Given the description of an element on the screen output the (x, y) to click on. 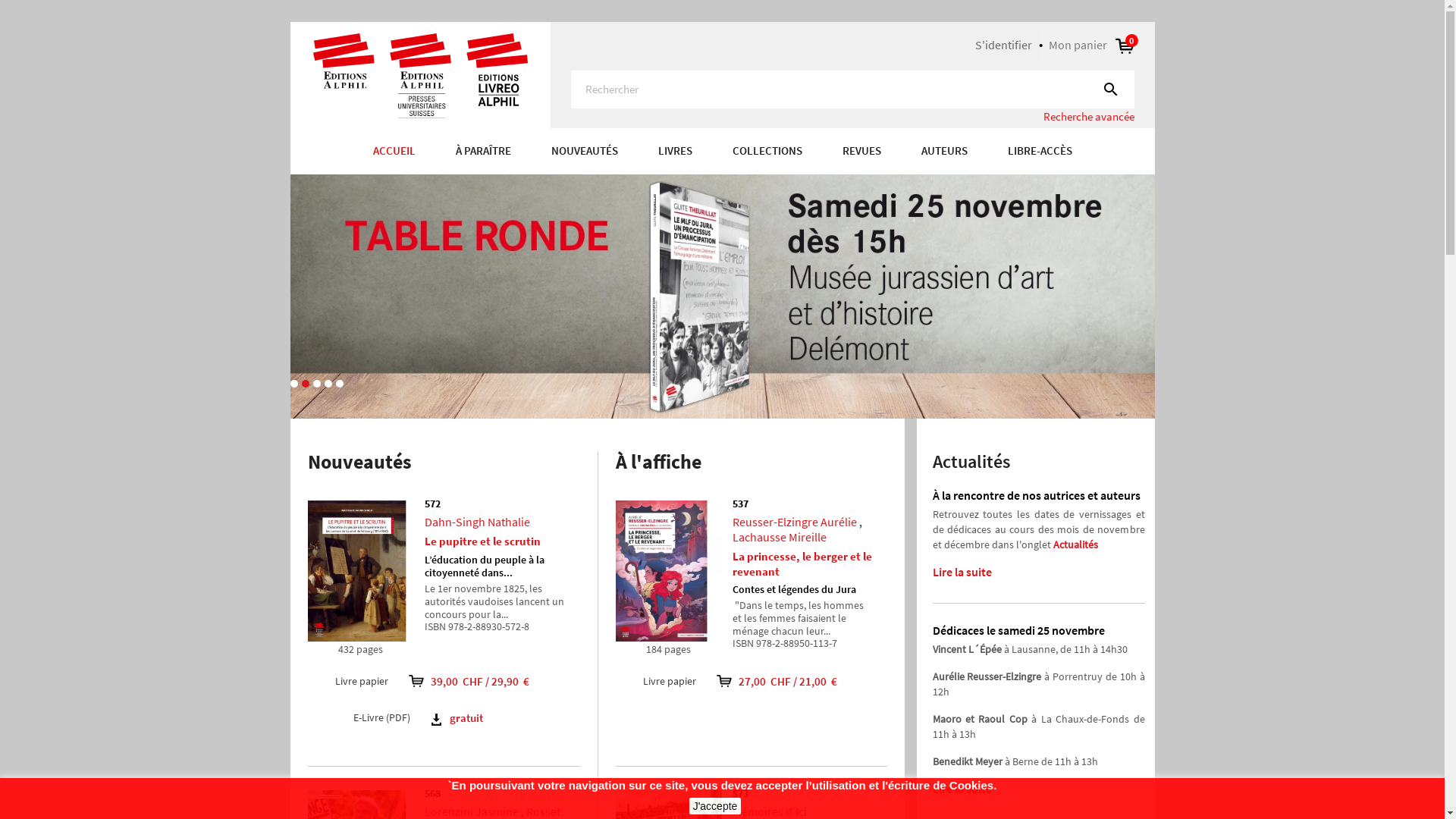
La princesse, le berger et le revenant Element type: text (802, 563)
S'identifier Element type: text (1003, 44)
gratuit Element type: text (455, 717)
LIVRES Element type: text (674, 152)
Le pupitre et le scrutin Element type: text (482, 540)
J'accepte Element type: text (715, 805)
Lire la suite Element type: text (961, 788)
Lachausse Mireille Element type: text (779, 536)
REVUES Element type: text (861, 152)
AUTEURS Element type: text (944, 152)
Lire la suite Element type: text (961, 571)
Dahn-Singh Nathalie Element type: text (477, 521)
COLLECTIONS Element type: text (766, 152)
ACCUEIL Element type: text (403, 152)
